Given the description of an element on the screen output the (x, y) to click on. 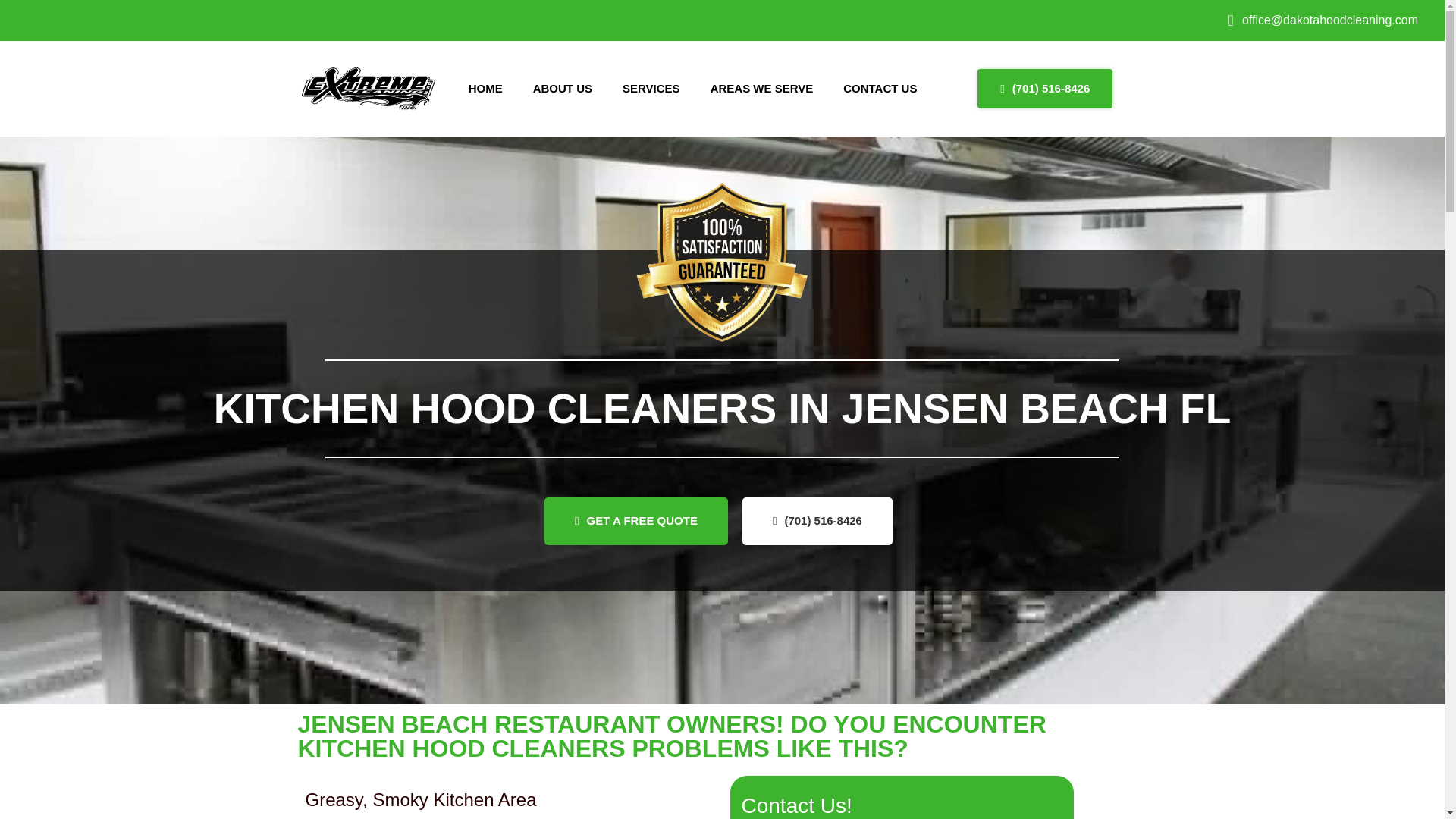
SERVICES (651, 88)
AREAS WE SERVE (761, 88)
ABOUT US (562, 88)
HOME (485, 88)
